Given the description of an element on the screen output the (x, y) to click on. 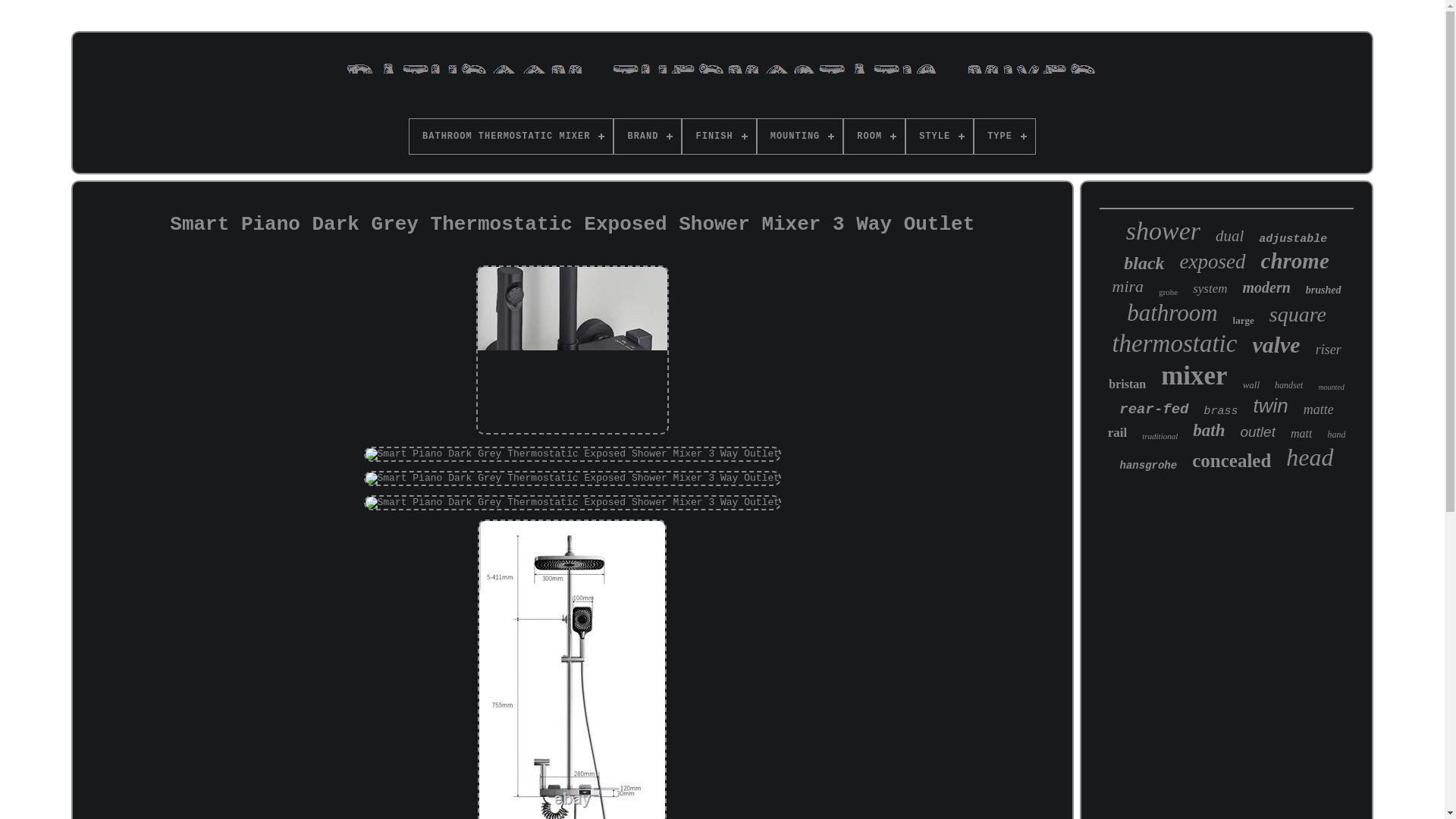
BRAND (647, 135)
BATHROOM THERMOSTATIC MIXER (510, 135)
FINISH (718, 135)
